Given the description of an element on the screen output the (x, y) to click on. 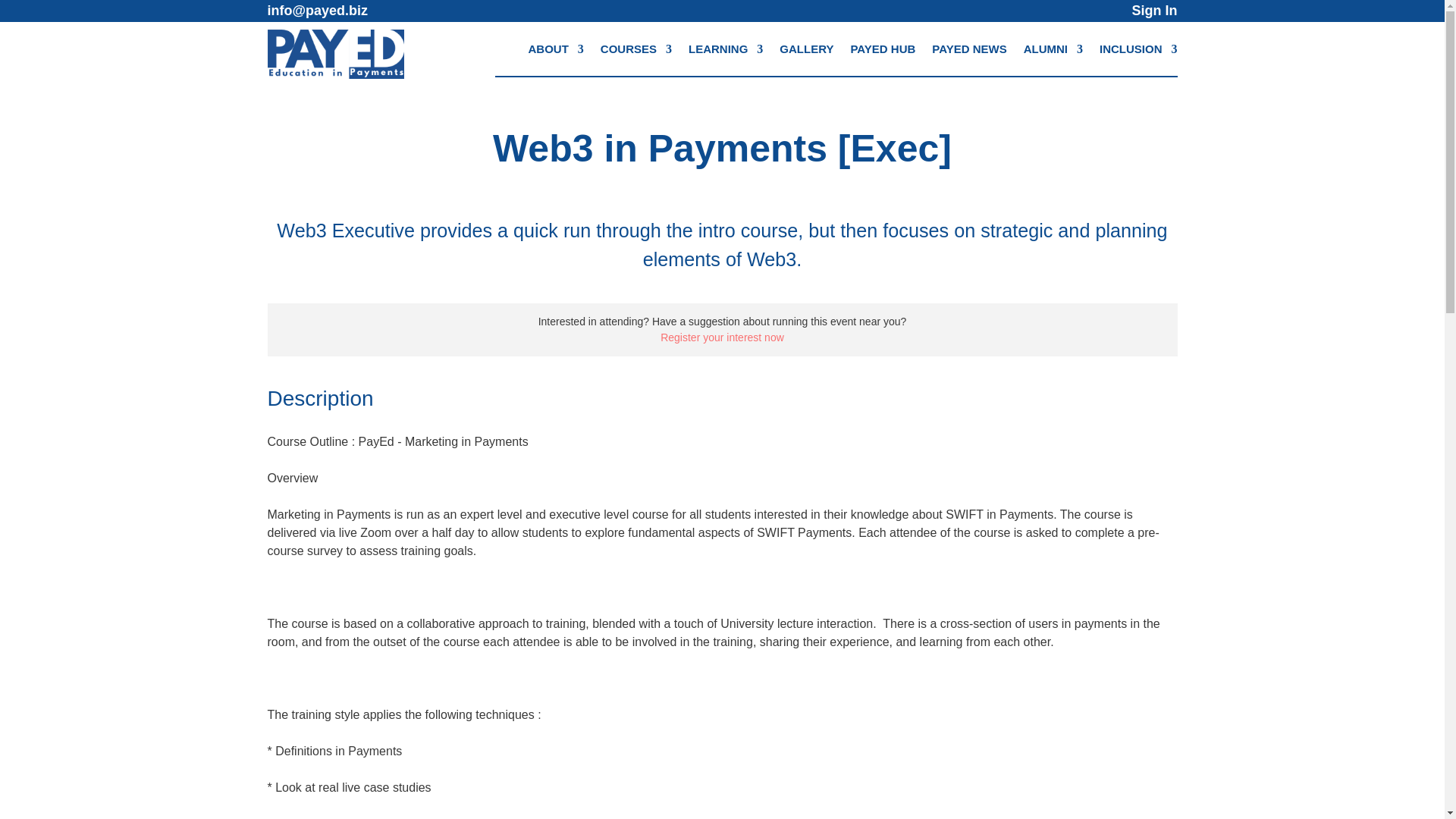
INCLUSION (1138, 51)
COURSES (635, 51)
ABOUT (555, 51)
PAYED NEWS (968, 51)
PAYED HUB (882, 51)
ALUMNI (1053, 51)
LEARNING (725, 51)
GALLERY (805, 51)
